Given the description of an element on the screen output the (x, y) to click on. 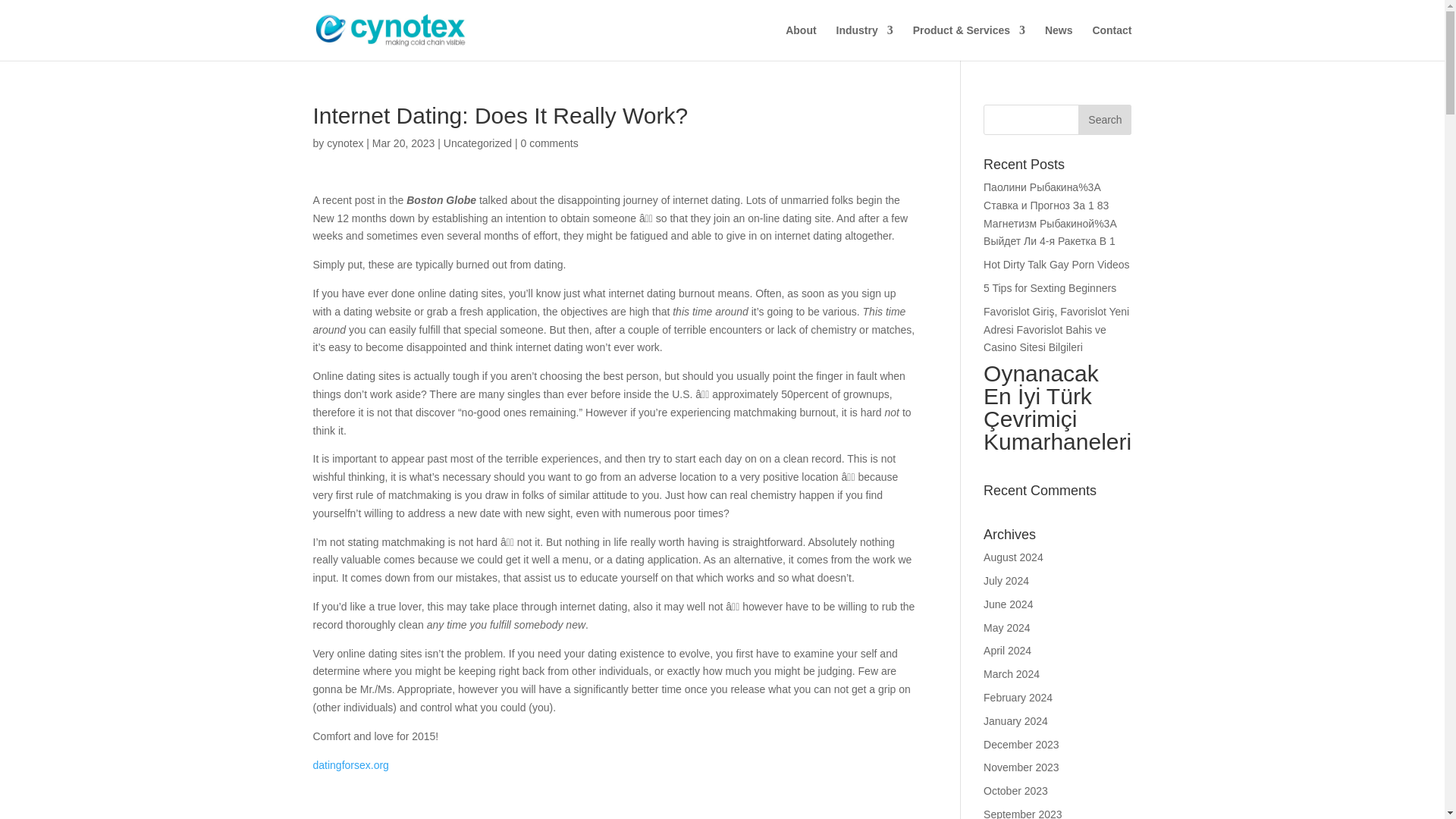
Search (1104, 119)
August 2024 (1013, 557)
Contact (1111, 42)
Uncategorized (478, 143)
5 Tips for Sexting Beginners (1050, 287)
July 2024 (1006, 580)
datingforsex.org (350, 765)
Search (1104, 119)
cynotex (344, 143)
June 2024 (1008, 604)
